Given the description of an element on the screen output the (x, y) to click on. 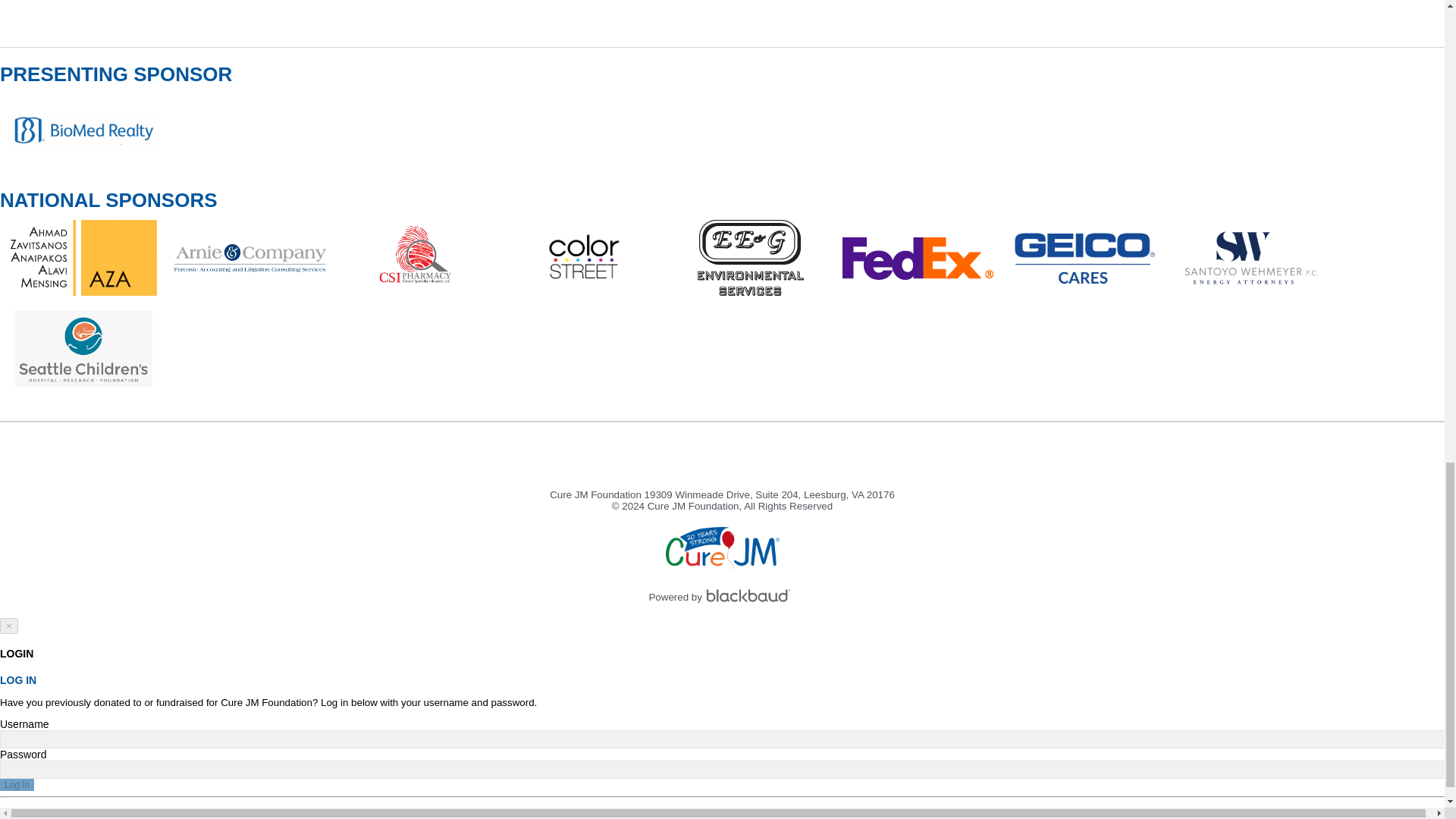
Log In (16, 784)
Log In (16, 784)
Powered by Blackbaud (750, 596)
